Given the description of an element on the screen output the (x, y) to click on. 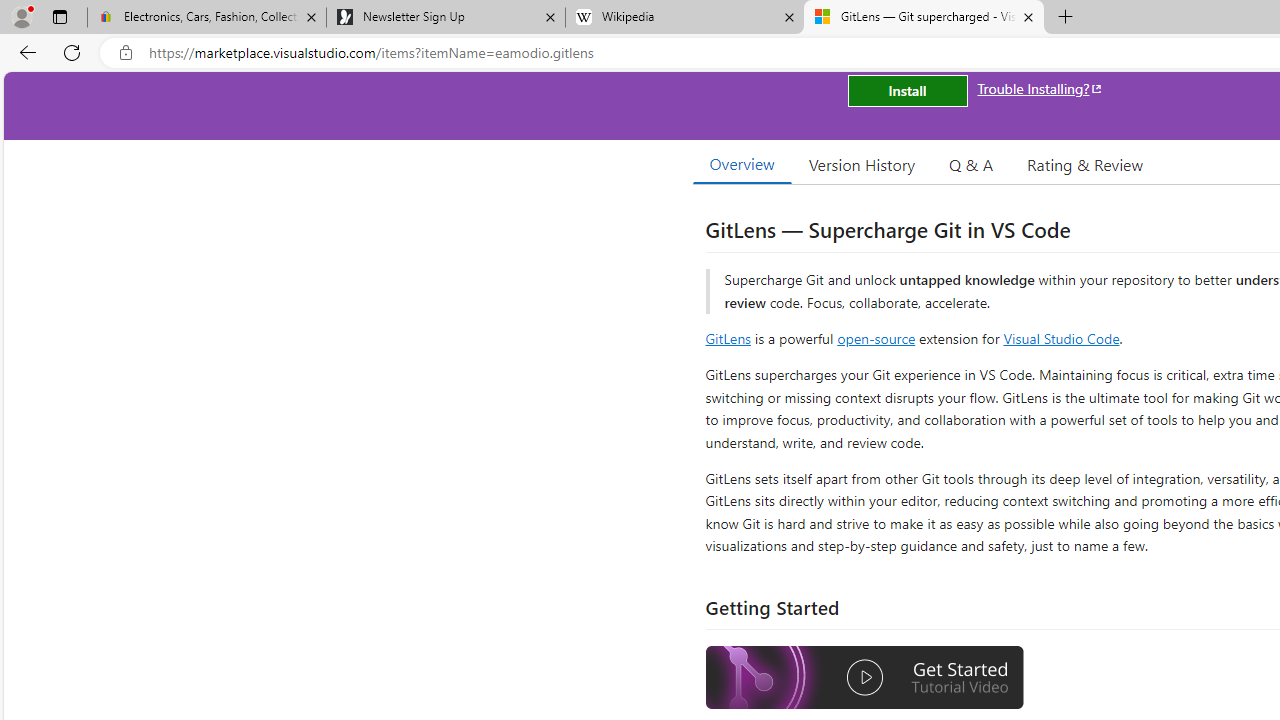
Version History (862, 164)
Rating & Review (1084, 164)
Install (907, 90)
open-source (876, 337)
Visual Studio Code (1061, 337)
Watch the GitLens Getting Started video (865, 679)
Newsletter Sign Up (445, 17)
